Given the description of an element on the screen output the (x, y) to click on. 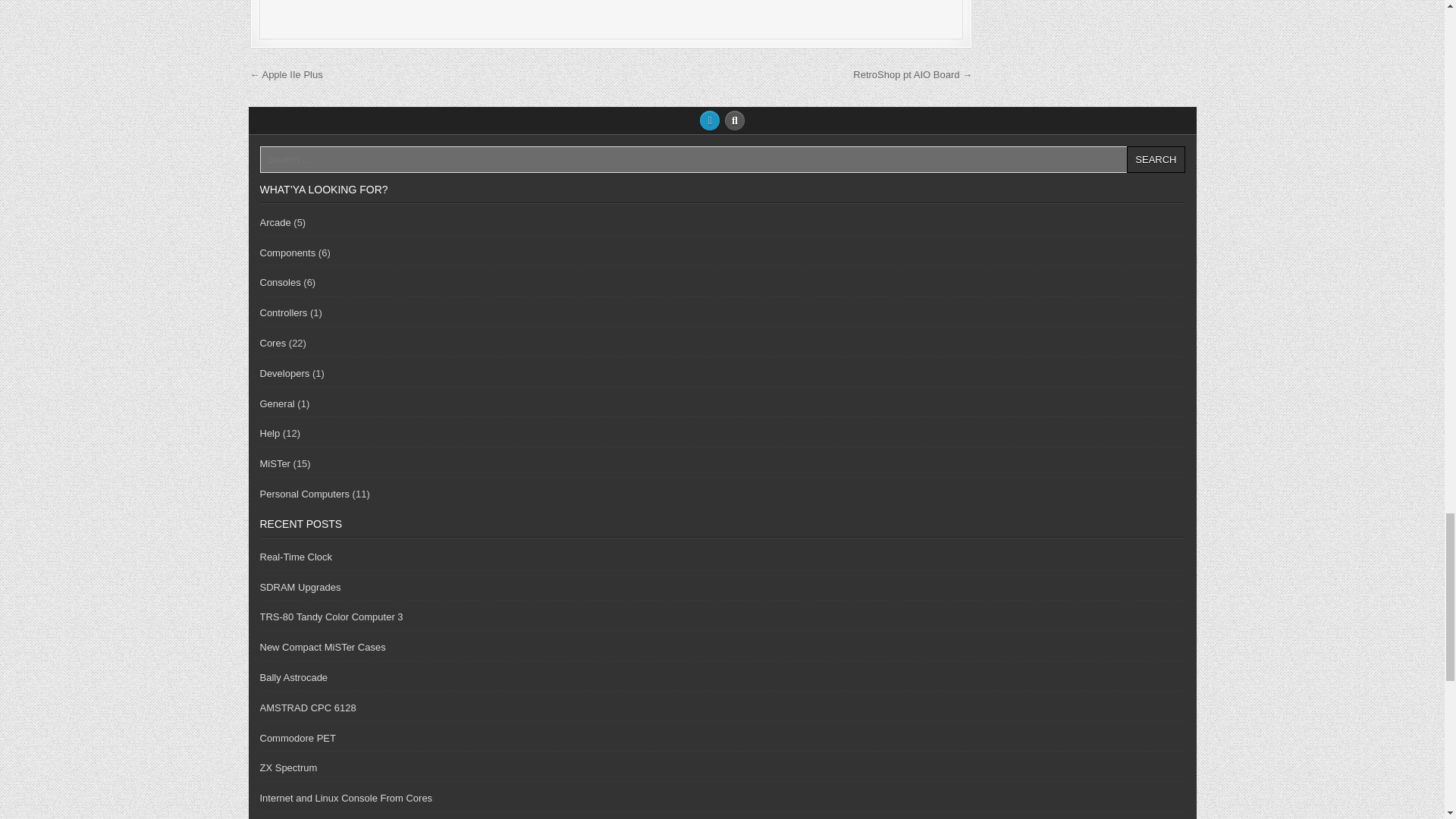
Search (1155, 159)
Help and tutorials (269, 432)
Search (1155, 159)
